Given the description of an element on the screen output the (x, y) to click on. 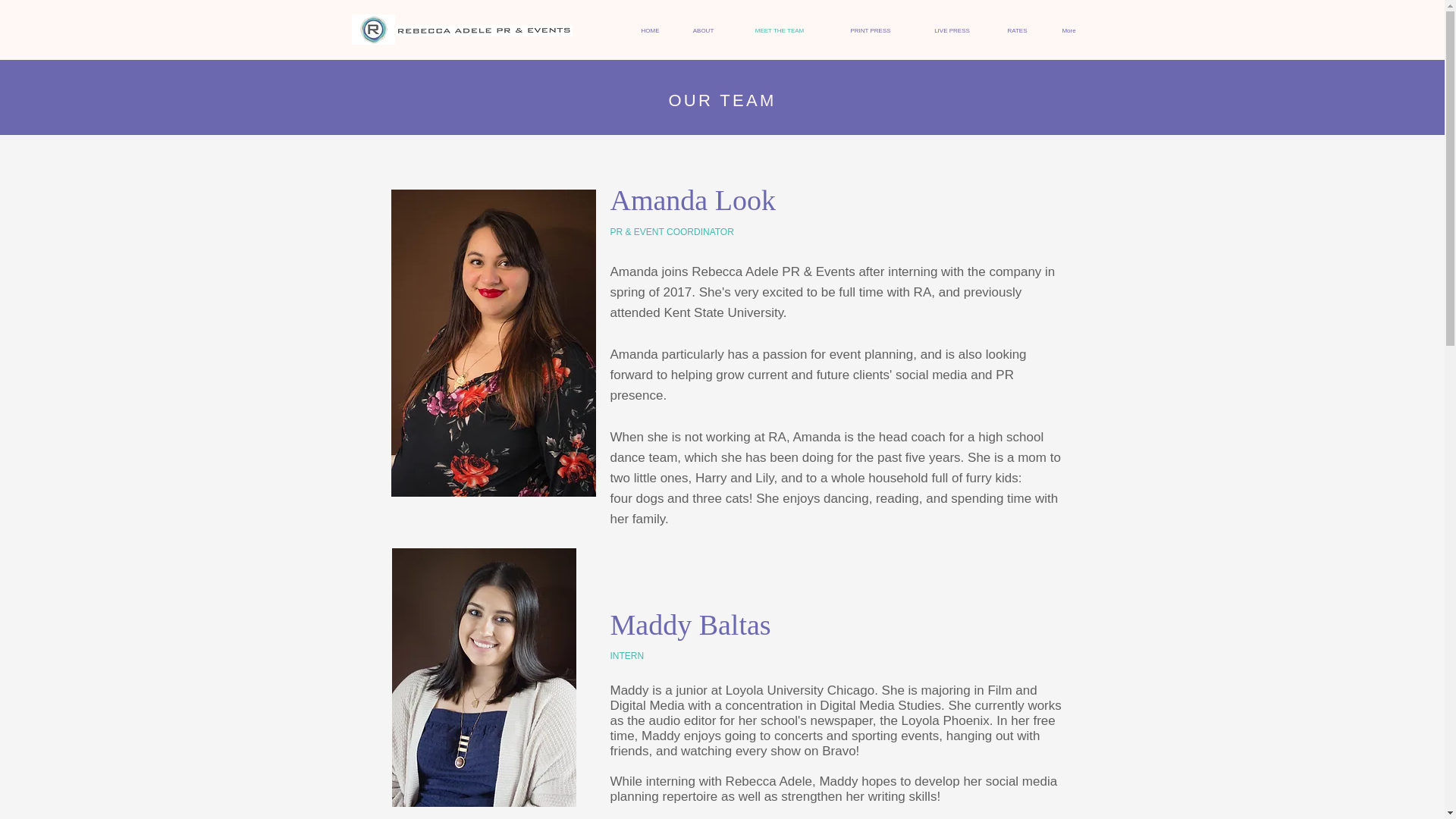
LIVE PRESS (951, 30)
RATES (1016, 30)
HOME (649, 30)
PRINT PRESS (871, 30)
ABOUT (702, 30)
MEET THE TEAM (778, 30)
